Given the description of an element on the screen output the (x, y) to click on. 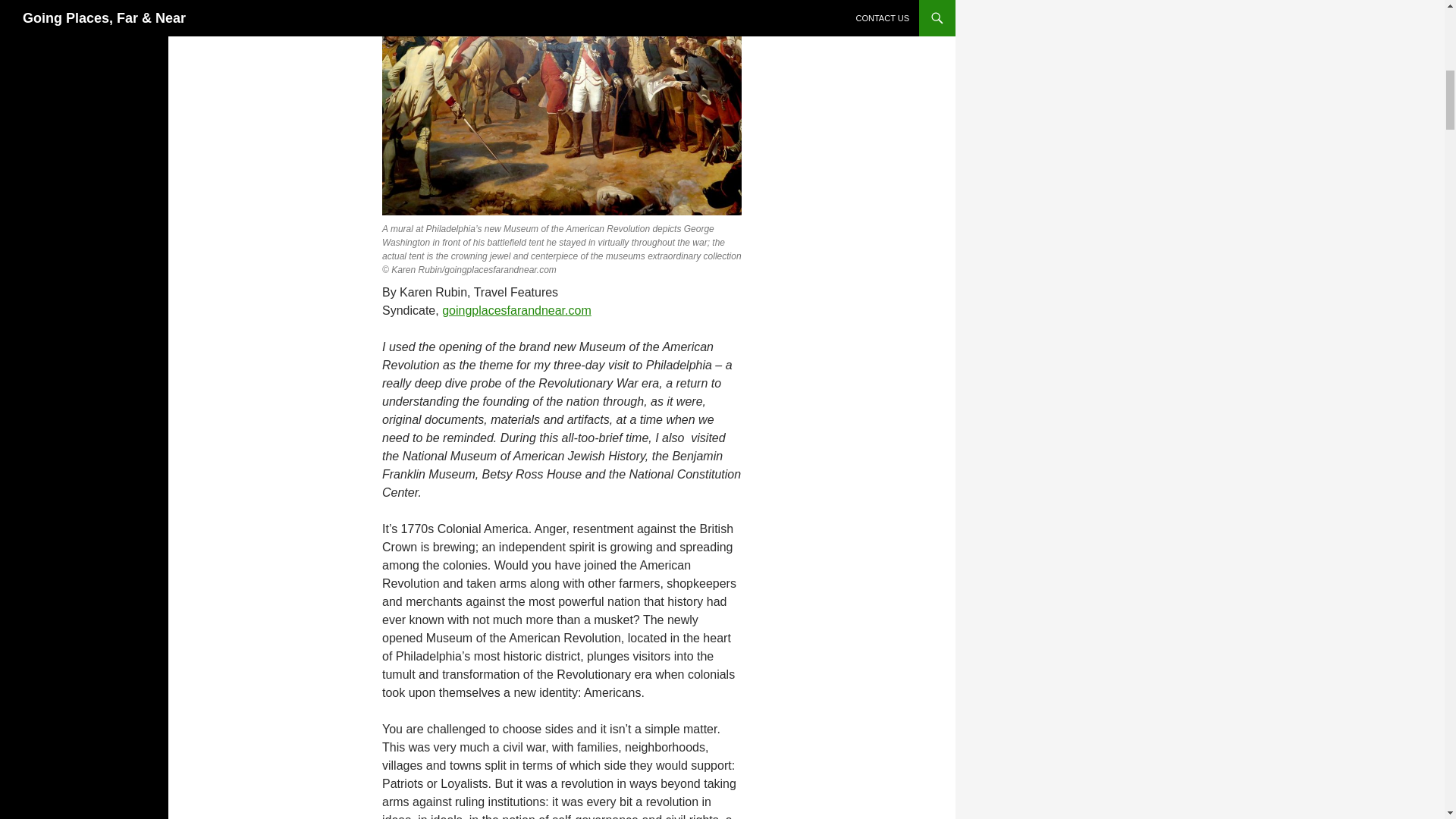
goingplacesfarandnear.com (516, 309)
